Given the description of an element on the screen output the (x, y) to click on. 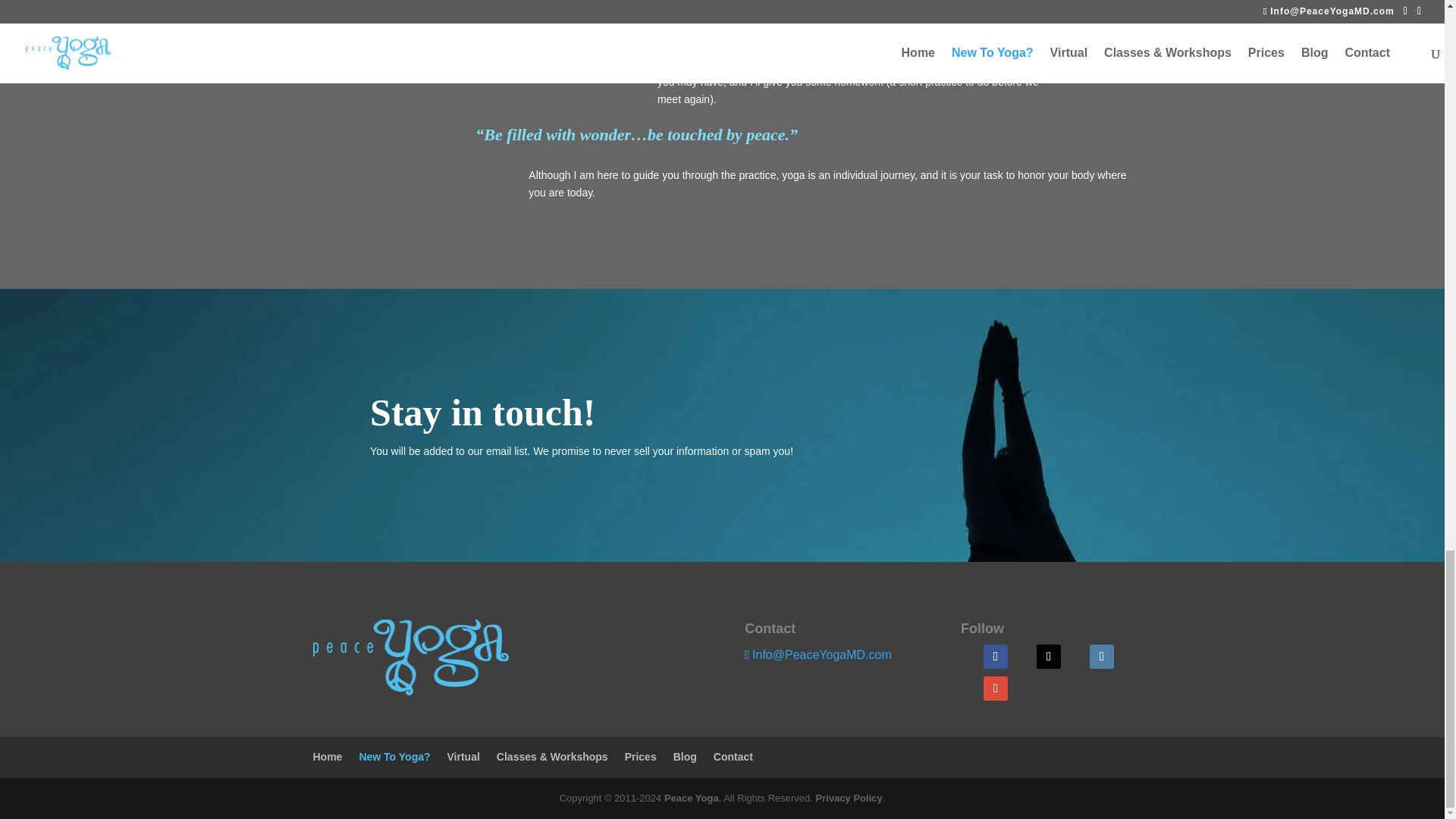
Follow on google-plus (995, 688)
Peace Yoga (691, 797)
Virtual (463, 756)
Home (327, 756)
Follow on Twitter (1048, 656)
Follow on Facebook (995, 656)
New To Yoga? (393, 756)
Blog (684, 756)
Contact (732, 756)
Privacy Policy (848, 797)
